Given the description of an element on the screen output the (x, y) to click on. 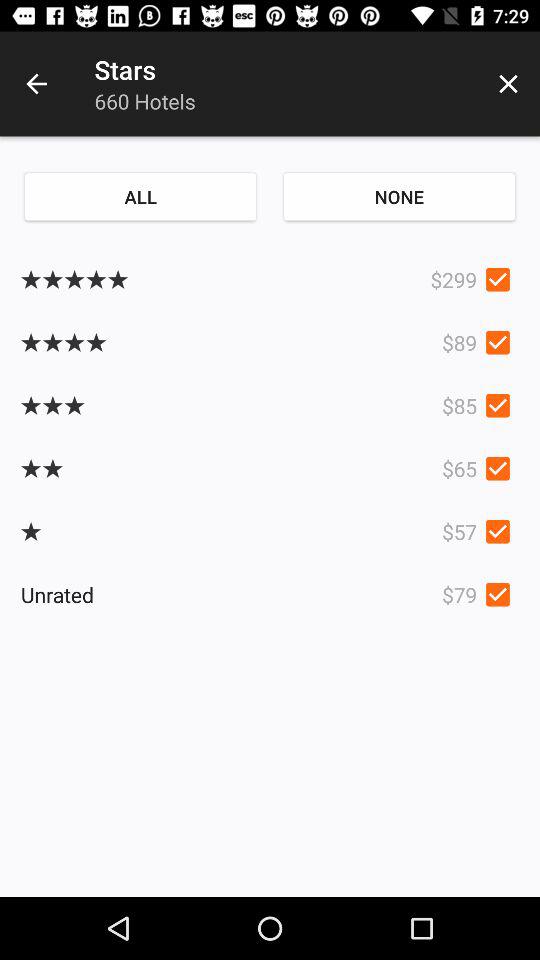
open icon next to the all item (399, 196)
